Given the description of an element on the screen output the (x, y) to click on. 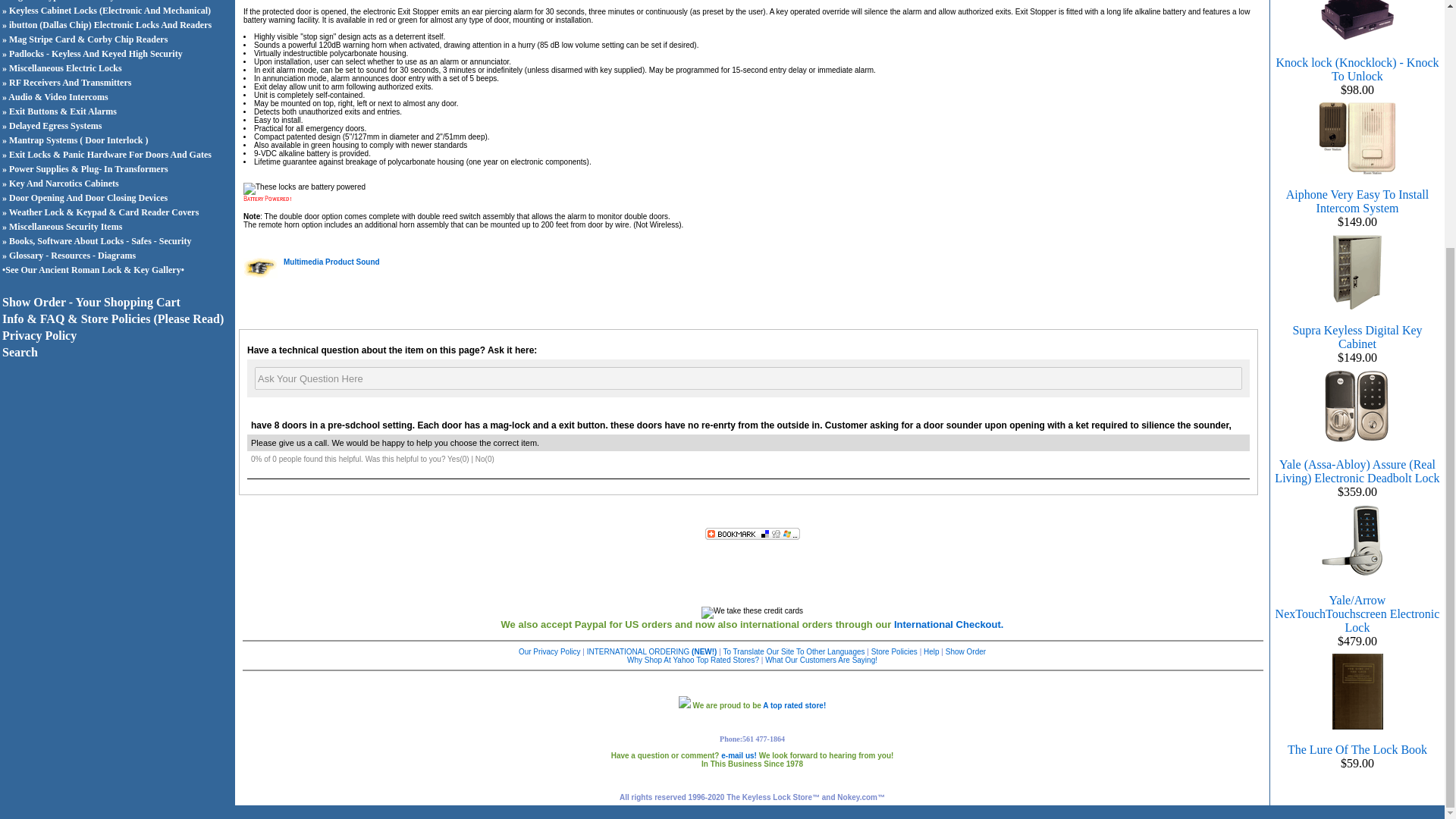
Search (19, 351)
Ask Your Question Here (747, 377)
Privacy Policy (39, 335)
Show Order - Your Shopping Cart (91, 301)
